Given the description of an element on the screen output the (x, y) to click on. 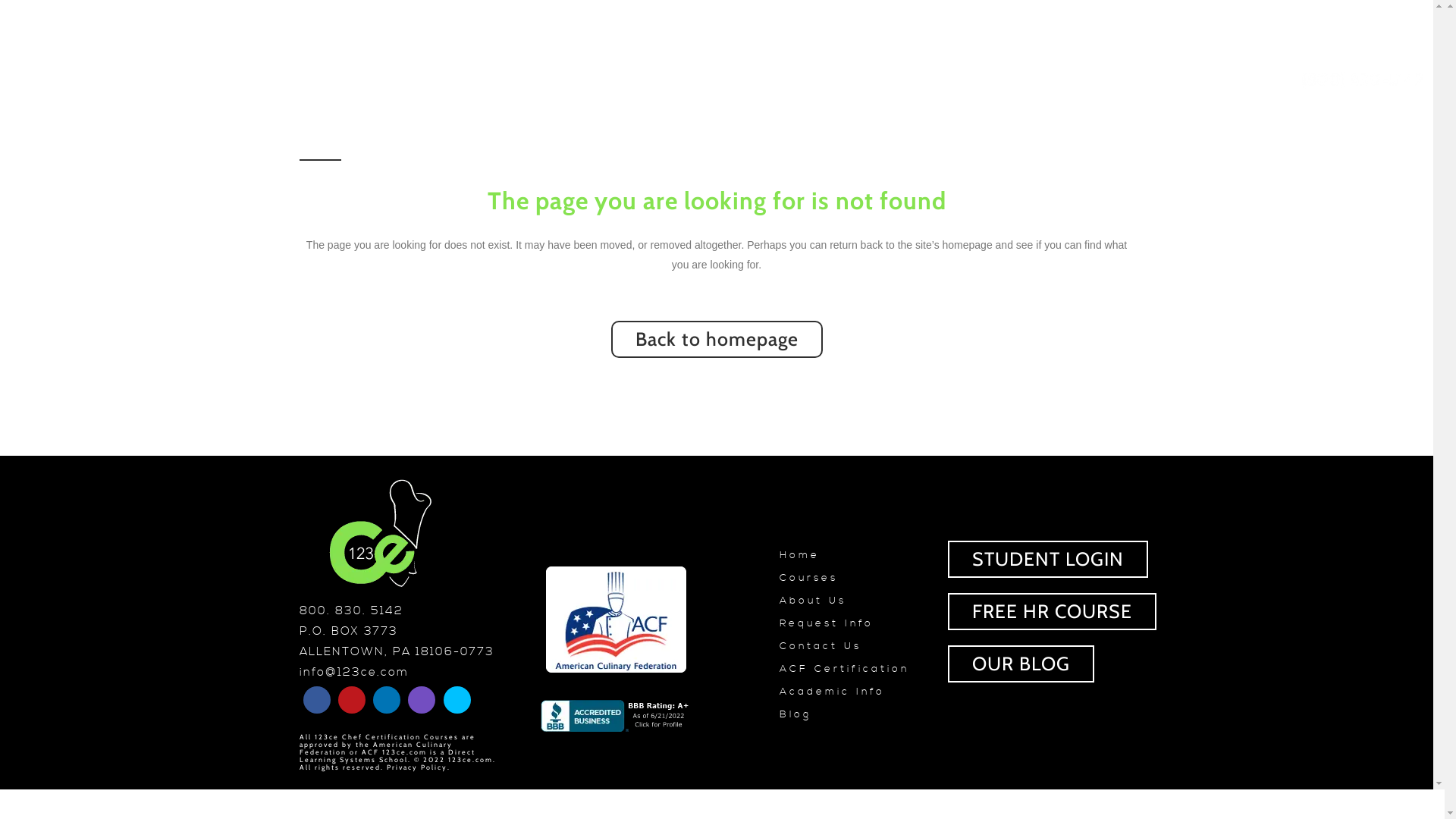
Home Element type: text (850, 555)
OUR BLOG Element type: text (1020, 662)
STUDENT LOGIN Element type: text (1047, 558)
Contact Us Element type: text (850, 646)
Back to homepage Element type: text (716, 338)
ACF Certification Element type: text (850, 669)
Blog Element type: text (850, 714)
Privacy Policy. Element type: text (418, 766)
About Us Element type: text (850, 600)
Courses Element type: text (850, 578)
Request Info Element type: text (850, 623)
Academic Info Element type: text (850, 691)
FREE HR COURSE Element type: text (1051, 611)
